Given the description of an element on the screen output the (x, y) to click on. 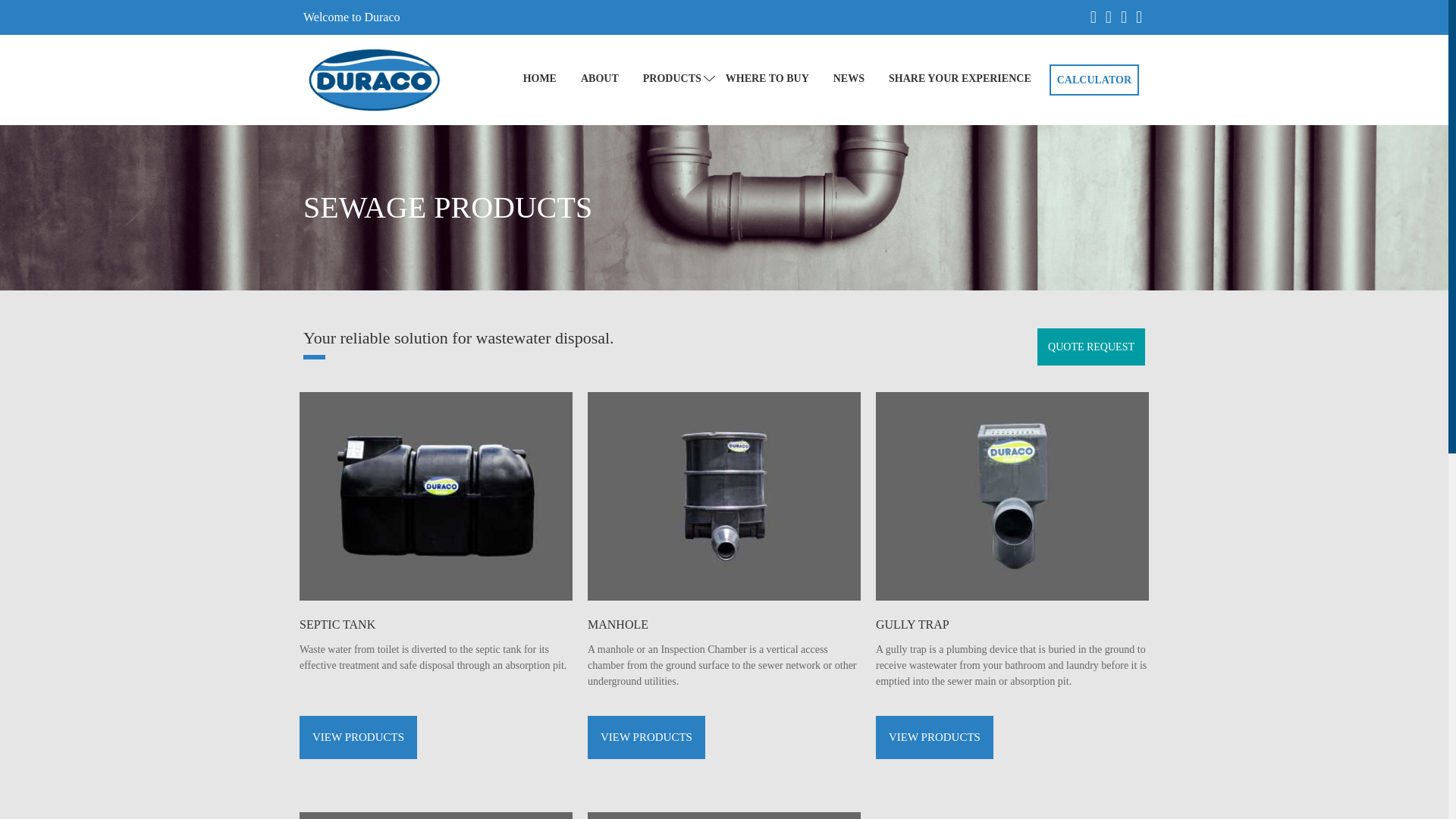
VIEW PRODUCTS (646, 737)
VIEW PRODUCTS (934, 737)
QUOTE REQUEST (1090, 346)
VIEW PRODUCTS (357, 737)
